Given the description of an element on the screen output the (x, y) to click on. 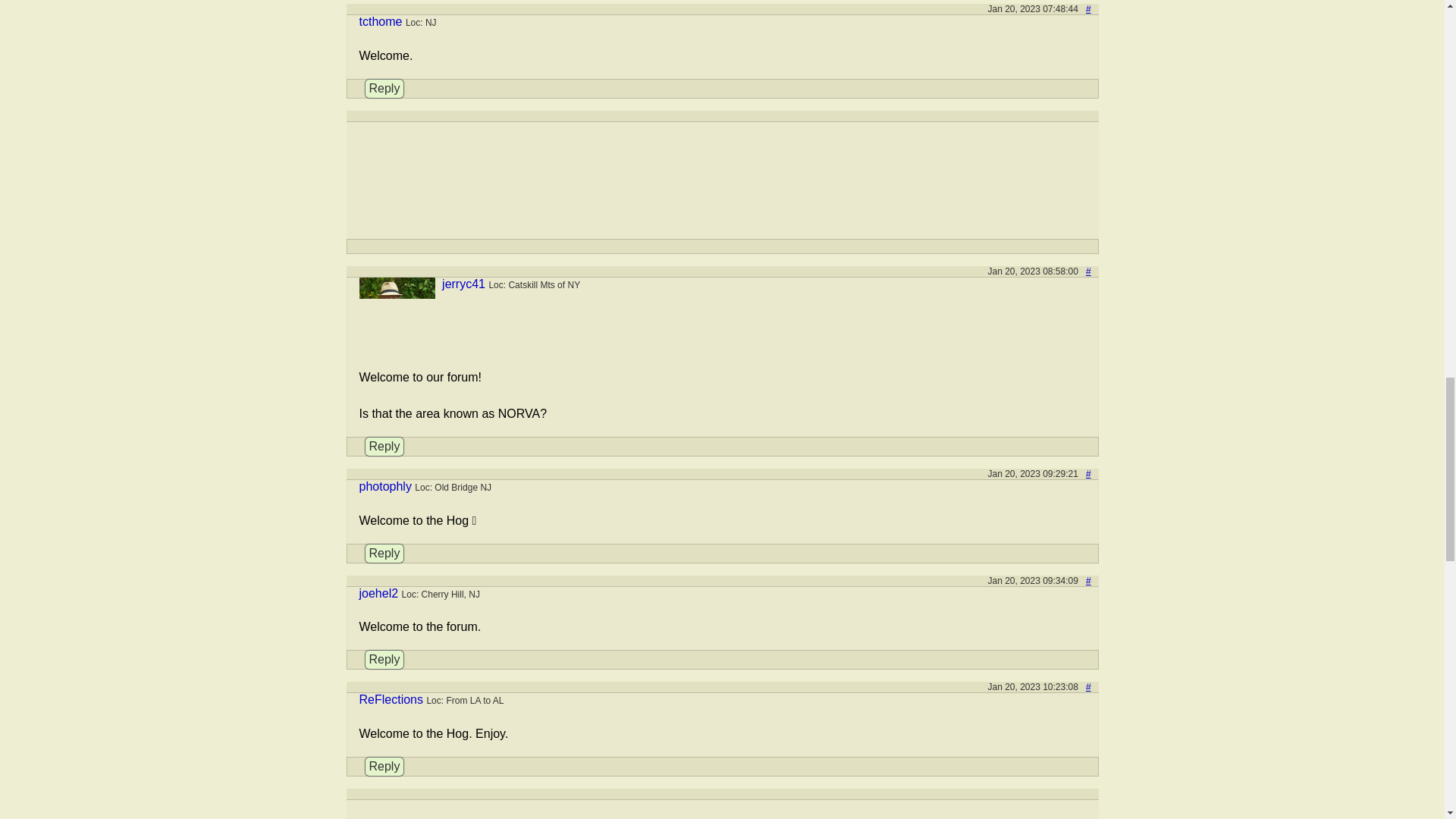
jerryc41 (463, 283)
Reply (384, 88)
joehel2 (378, 593)
Reply (384, 553)
tcthome (381, 21)
Reply (384, 659)
photophly (385, 486)
Reply (384, 446)
